Given the description of an element on the screen output the (x, y) to click on. 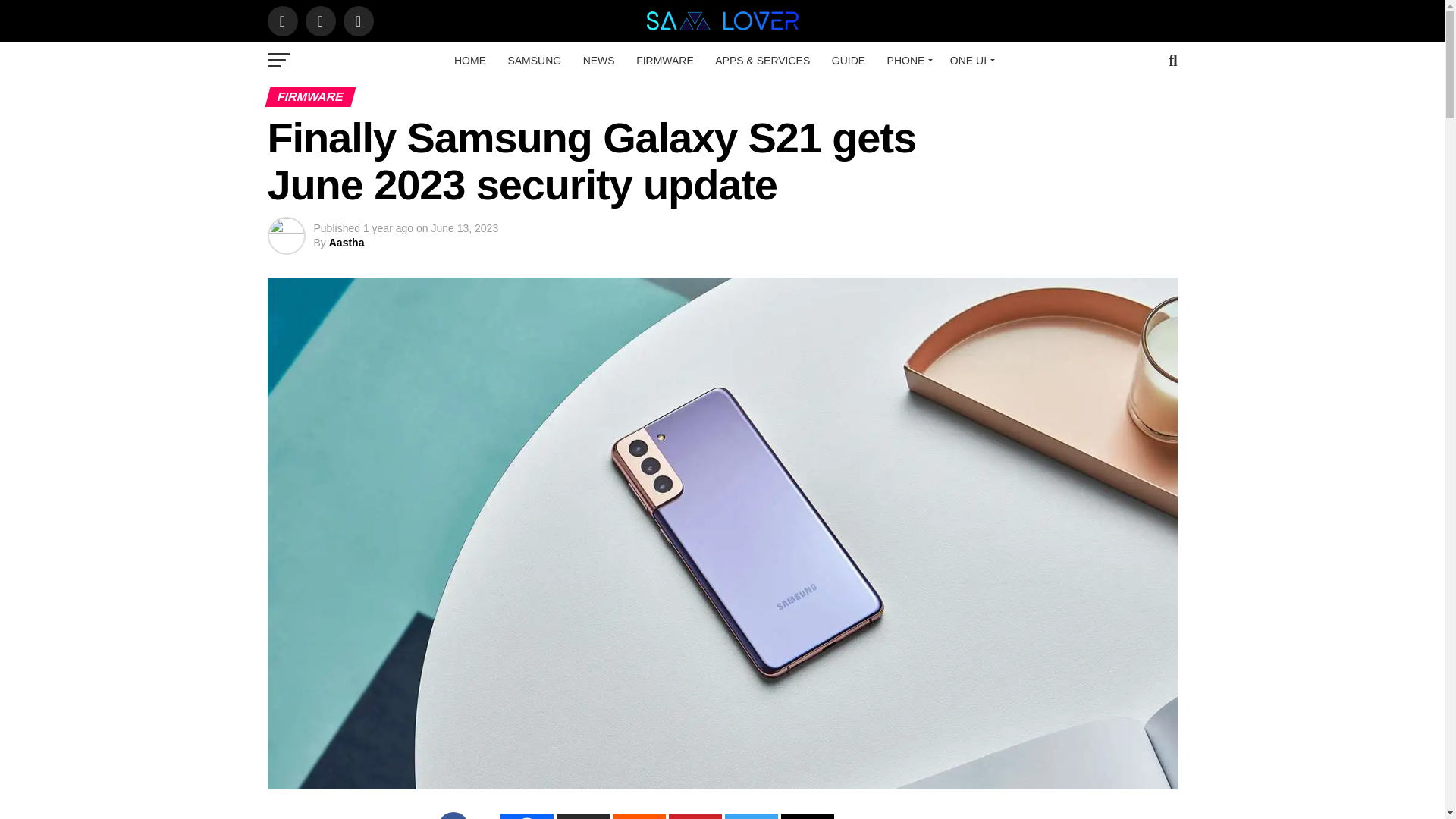
NEWS (598, 60)
Facebook (526, 816)
X (583, 816)
Posts by Aastha (347, 242)
HOME (470, 60)
Pinterest (695, 816)
Reddit (638, 816)
FIRMWARE (665, 60)
SAMSUNG (533, 60)
